Given the description of an element on the screen output the (x, y) to click on. 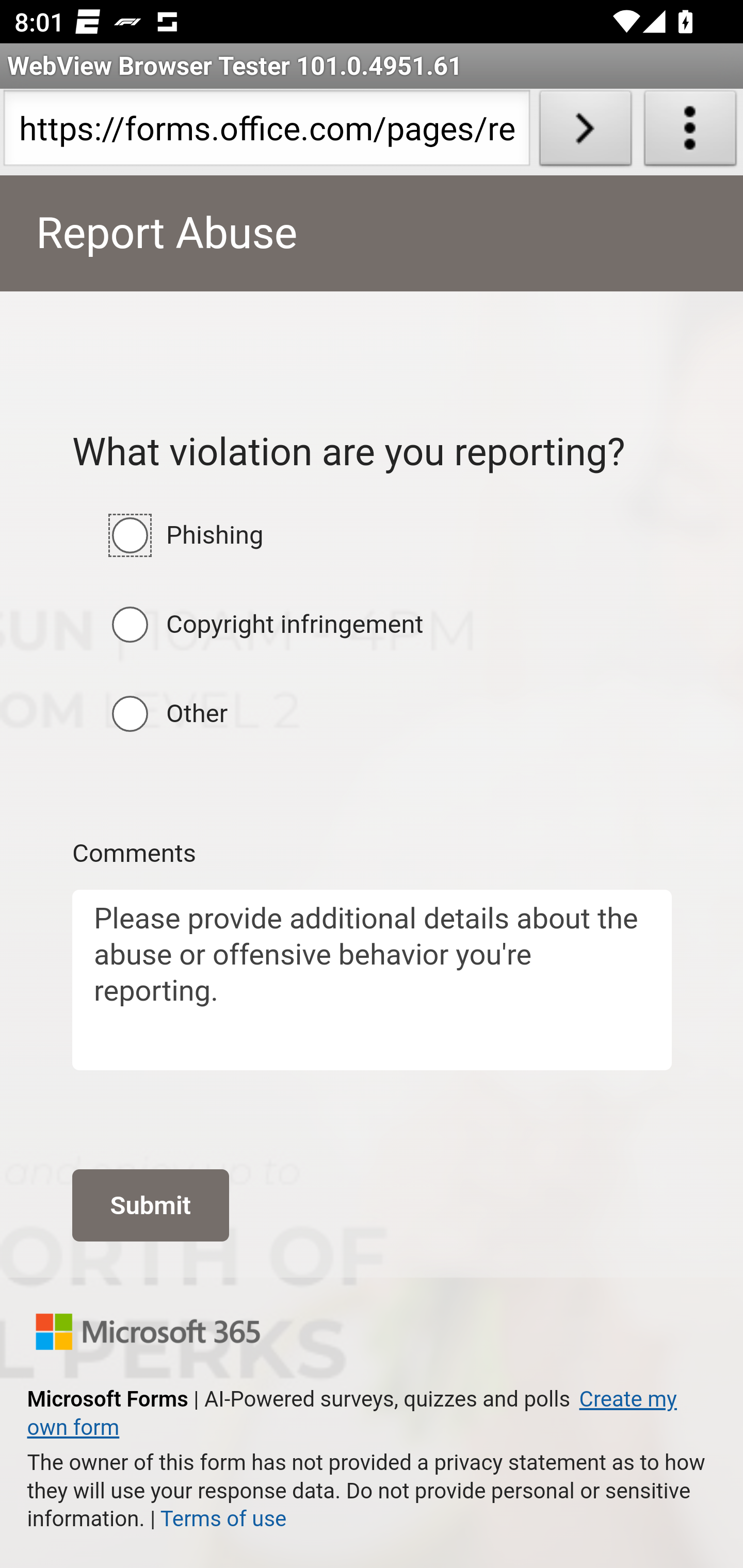
Load URL (585, 132)
About WebView (690, 132)
Phishing (129, 535)
Copyright infringement (129, 624)
Other (129, 713)
Submit (150, 1204)
Microsoft 365 (148, 1331)
Microsoft Forms (107, 1400)
Create my own form (350, 1413)
Terms of use (222, 1519)
